Given the description of an element on the screen output the (x, y) to click on. 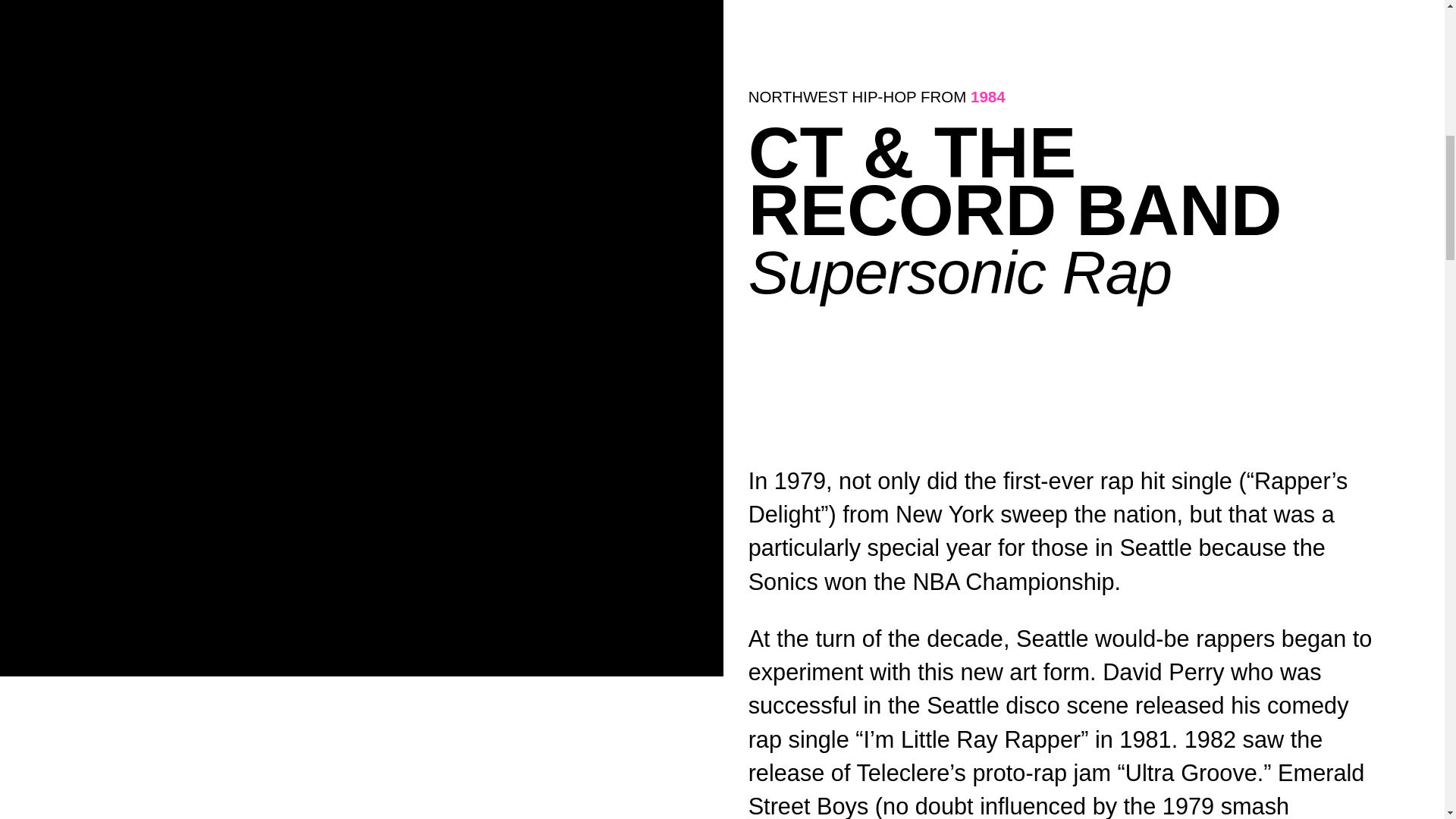
1984 (988, 96)
